Given the description of an element on the screen output the (x, y) to click on. 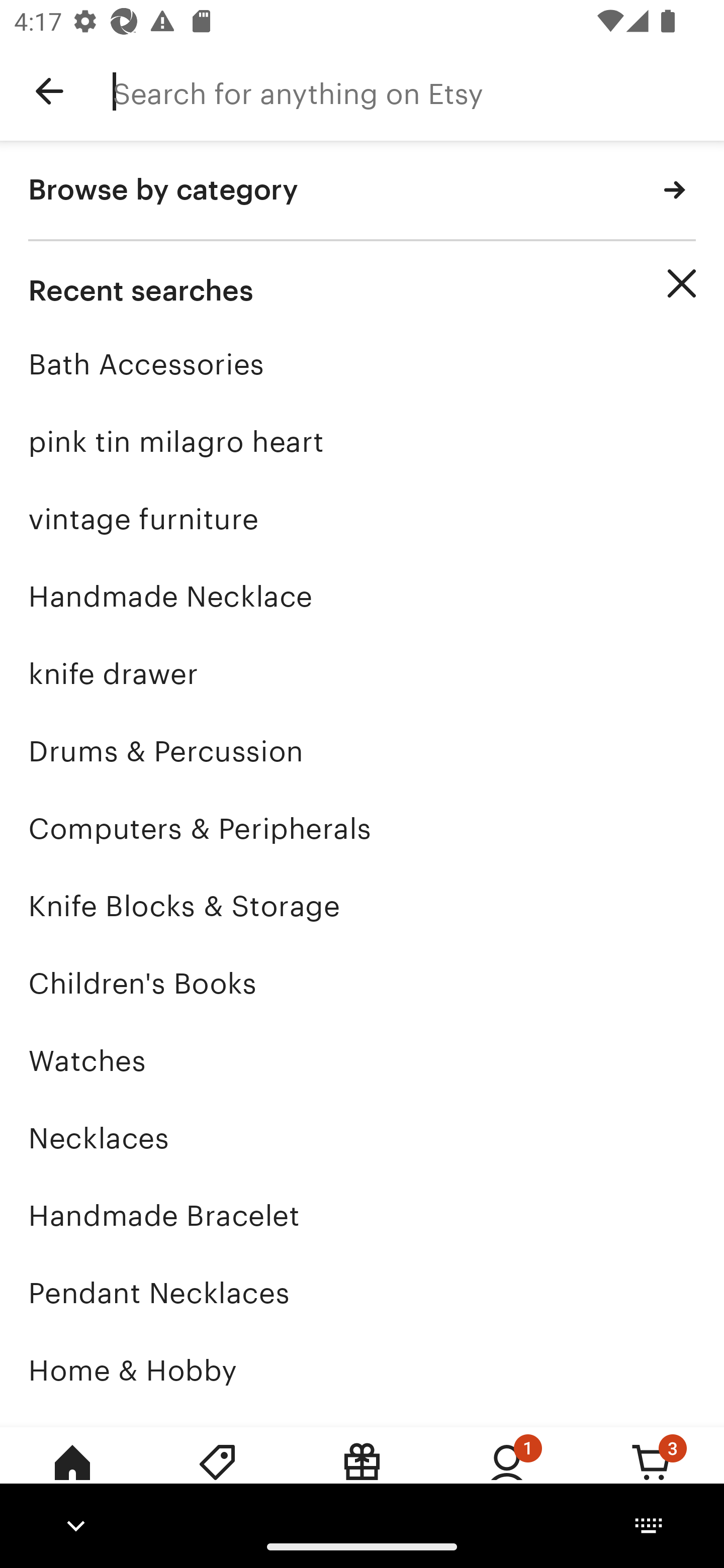
Navigate up (49, 91)
Search for anything on Etsy (418, 91)
Browse by category (362, 191)
Clear (681, 283)
Bath Accessories (362, 364)
pink tin milagro heart (362, 440)
vintage furniture (362, 518)
Handmade Necklace (362, 596)
knife drawer (362, 673)
Drums & Percussion (362, 750)
Computers & Peripherals (362, 828)
Knife Blocks & Storage (362, 906)
Children's Books (362, 983)
Watches (362, 1060)
Necklaces (362, 1138)
Handmade Bracelet (362, 1215)
Pendant Necklaces (362, 1292)
Home & Hobby (362, 1370)
Deals (216, 1475)
Gift Mode (361, 1475)
You, 1 new notification (506, 1475)
Cart, 3 new notifications (651, 1475)
